Given the description of an element on the screen output the (x, y) to click on. 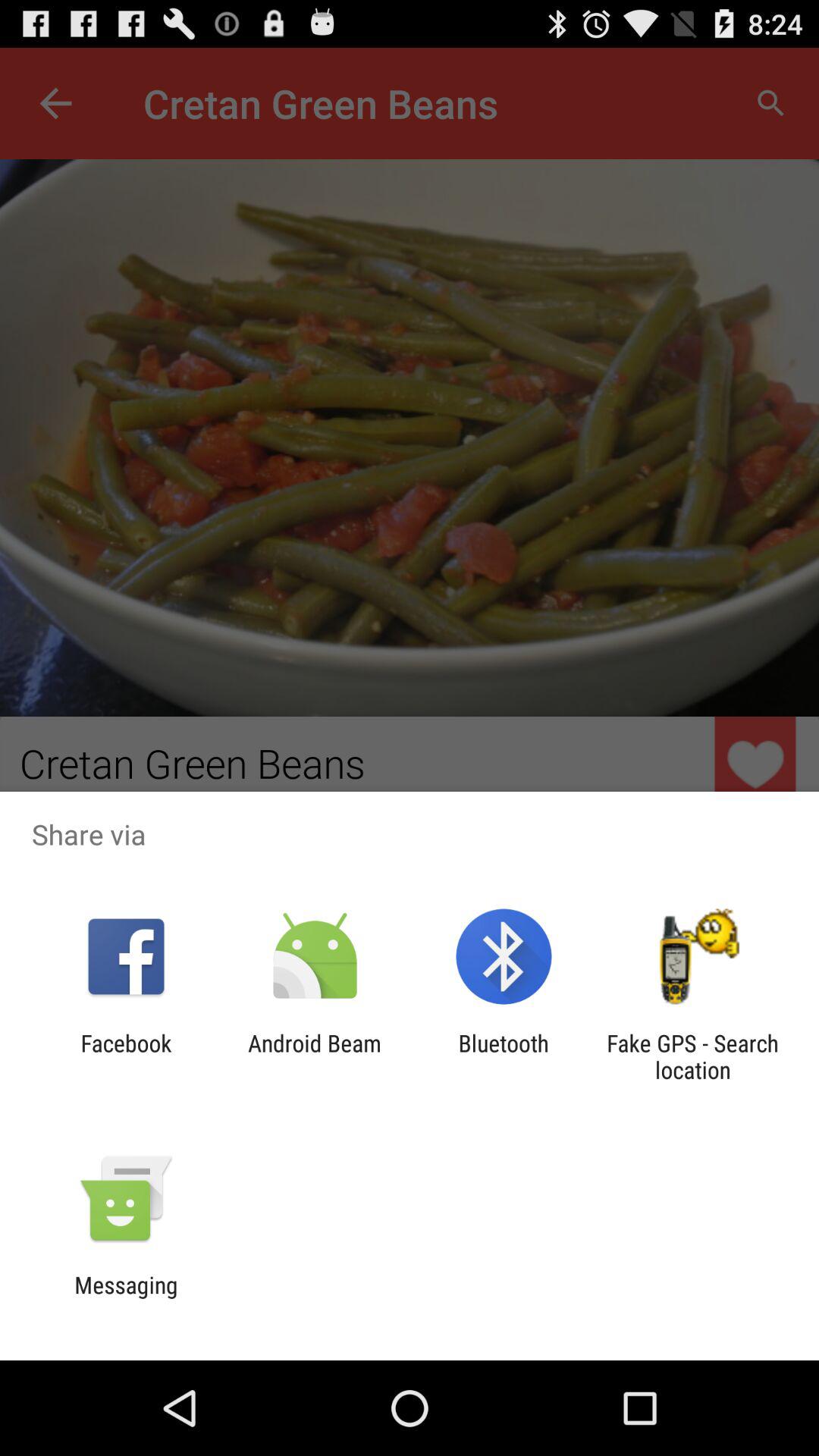
tap messaging icon (126, 1298)
